Given the description of an element on the screen output the (x, y) to click on. 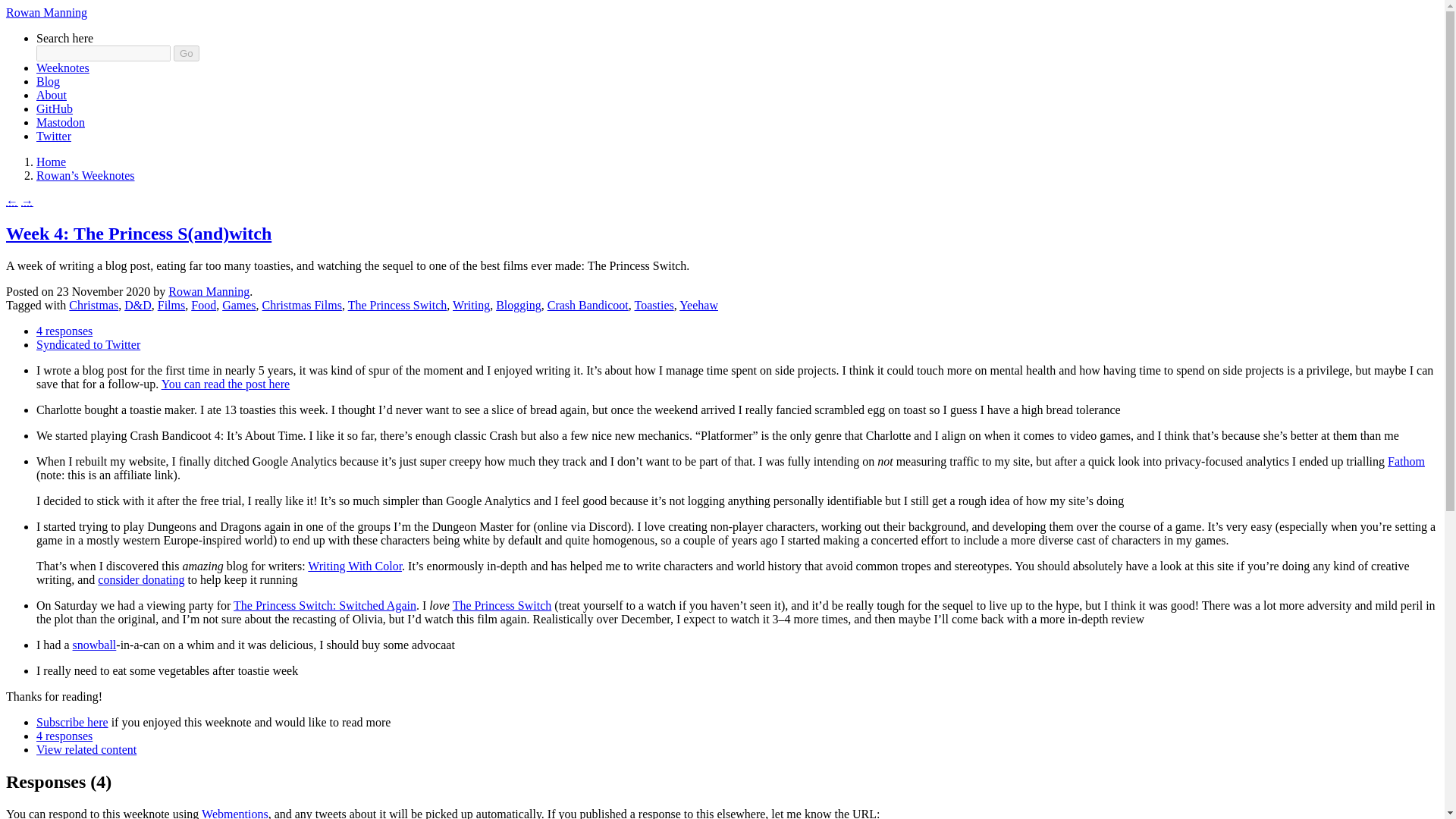
Games (239, 305)
View related content (86, 748)
GitHub (54, 108)
Webmentions (234, 813)
Home (50, 161)
Blog (47, 81)
The Princess Switch (396, 305)
consider donating (140, 579)
Rowan Manning (208, 291)
Subscribe here (71, 721)
4 responses (64, 735)
The Princess Switch (501, 604)
Writing (470, 305)
Fathom (1406, 461)
Writing With Color (354, 565)
